Given the description of an element on the screen output the (x, y) to click on. 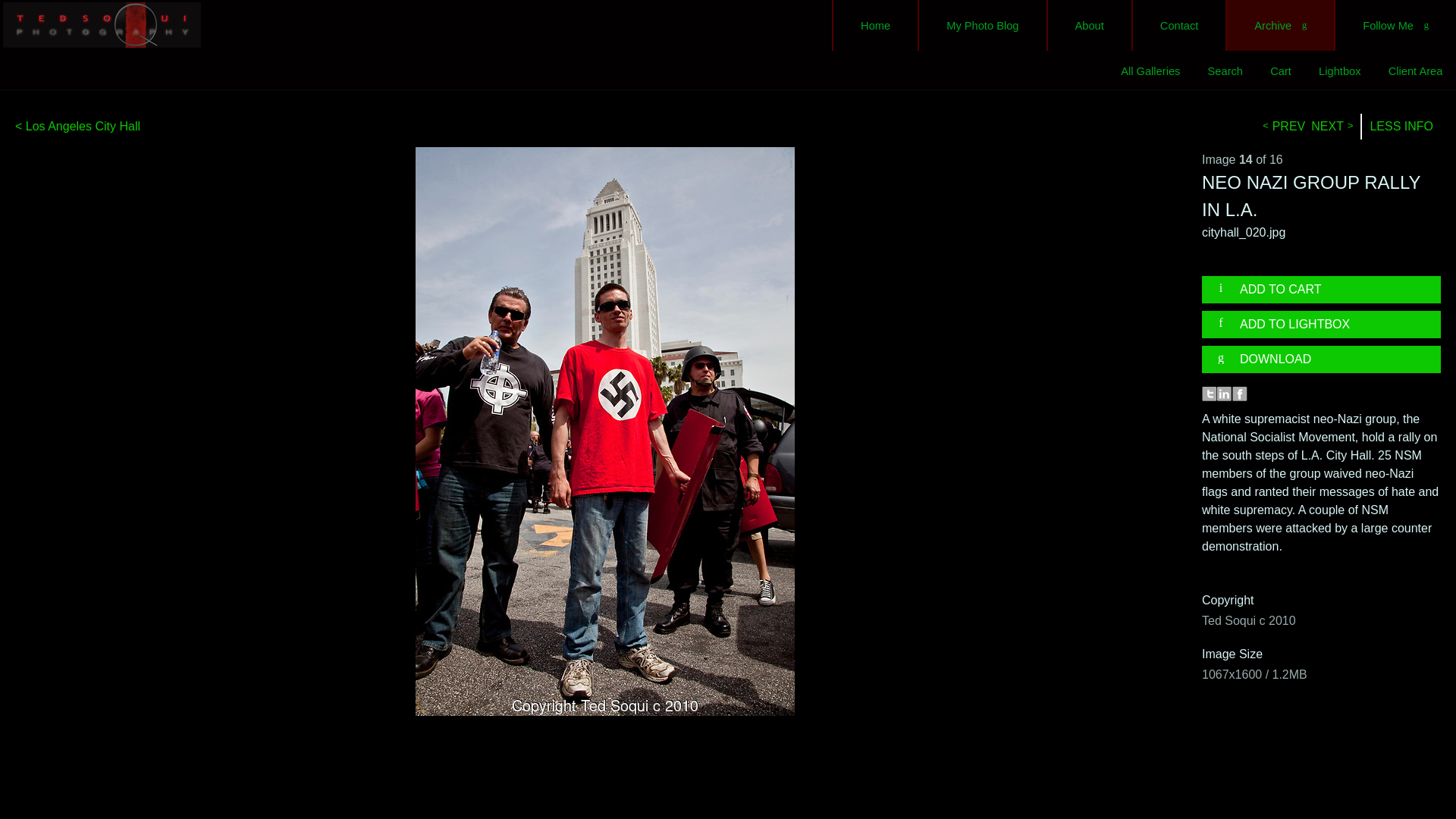
ADD TO LIGHTBOX (1326, 324)
Ted Soqui Photography (101, 24)
Home (874, 25)
Ted Soqui Photography (101, 24)
Search (1225, 70)
About (1089, 25)
ADD TO CART (1326, 289)
My Photo Blog (981, 25)
All Galleries (1150, 70)
DOWNLOAD (1326, 359)
